Given the description of an element on the screen output the (x, y) to click on. 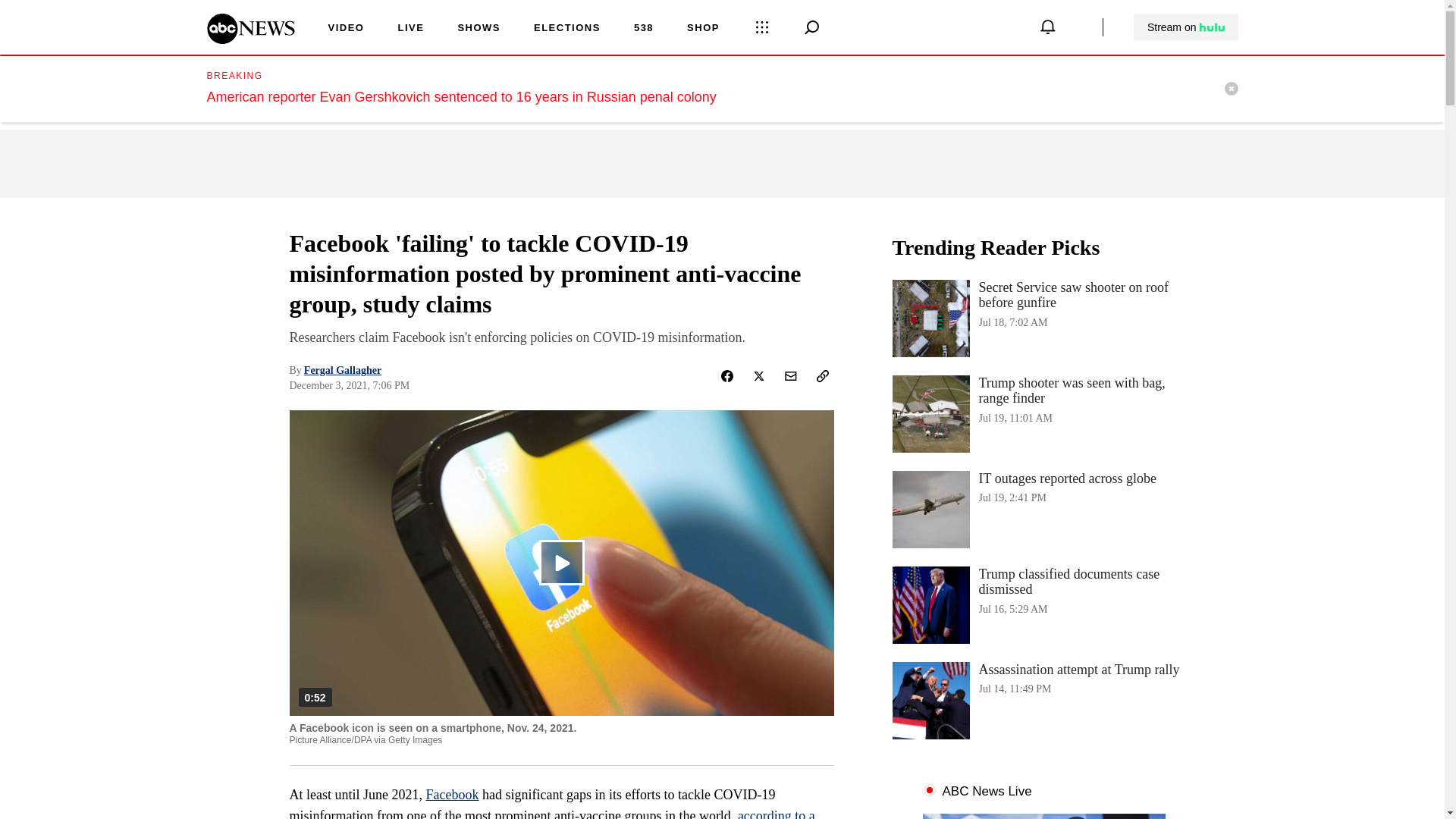
VIDEO (345, 28)
538 (643, 28)
SHOWS (478, 28)
ELECTIONS (566, 28)
Stream on (1185, 27)
SHOP (1043, 700)
Stream on (703, 28)
according to a study from ISD Global, (1186, 26)
LIVE (552, 813)
ABC News (410, 28)
